Given the description of an element on the screen output the (x, y) to click on. 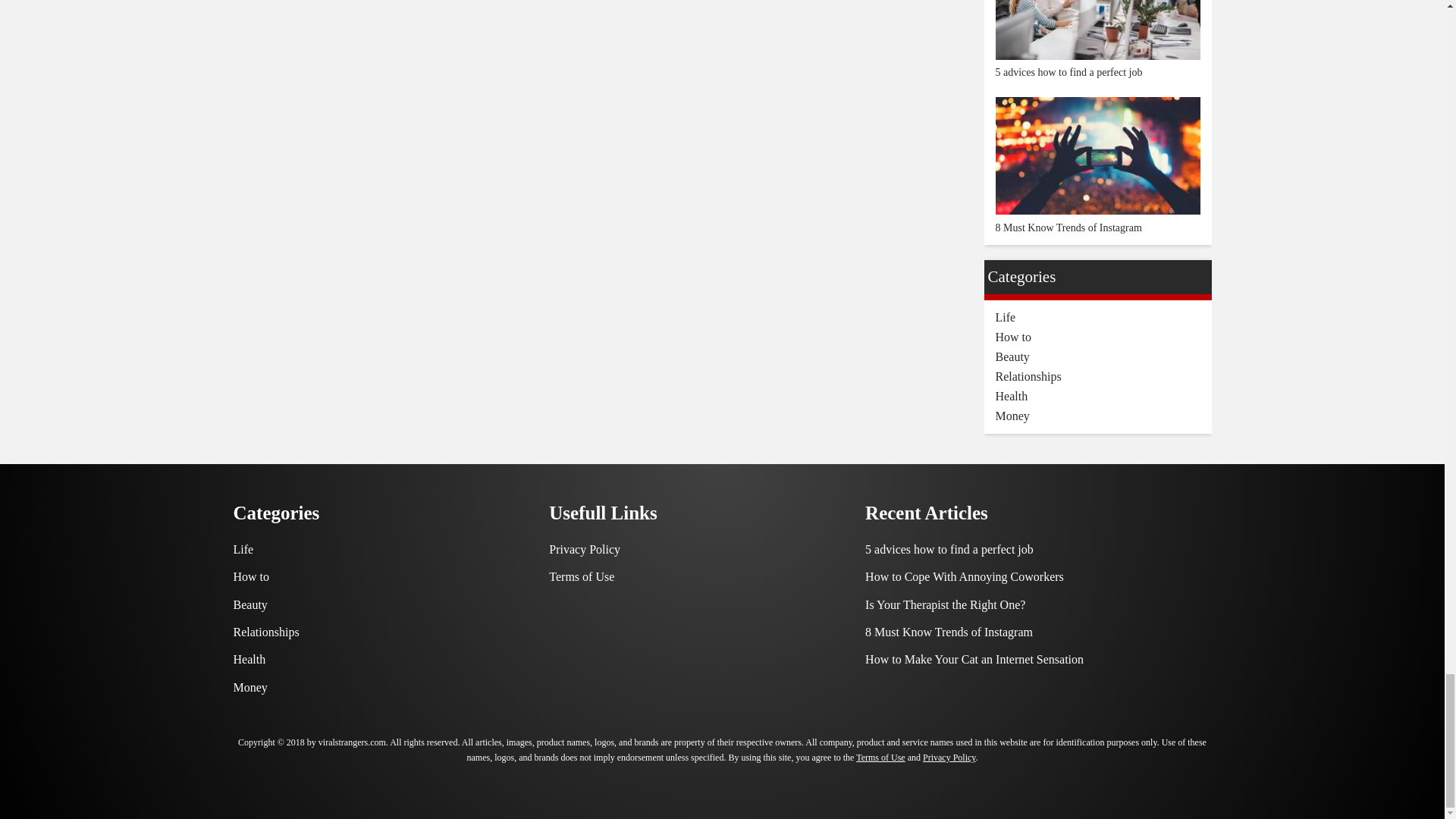
How to (250, 576)
Beauty (249, 604)
8 Must Know Trends of Instagram (948, 631)
Policy (581, 576)
Is Your Therapist the Right One? (944, 604)
Contact (584, 549)
How to Cope With Annoying Coworkers (964, 576)
Health (249, 658)
Relationships (265, 631)
5 advices how to find a perfect job (948, 549)
Life (242, 549)
Money (249, 686)
